Given the description of an element on the screen output the (x, y) to click on. 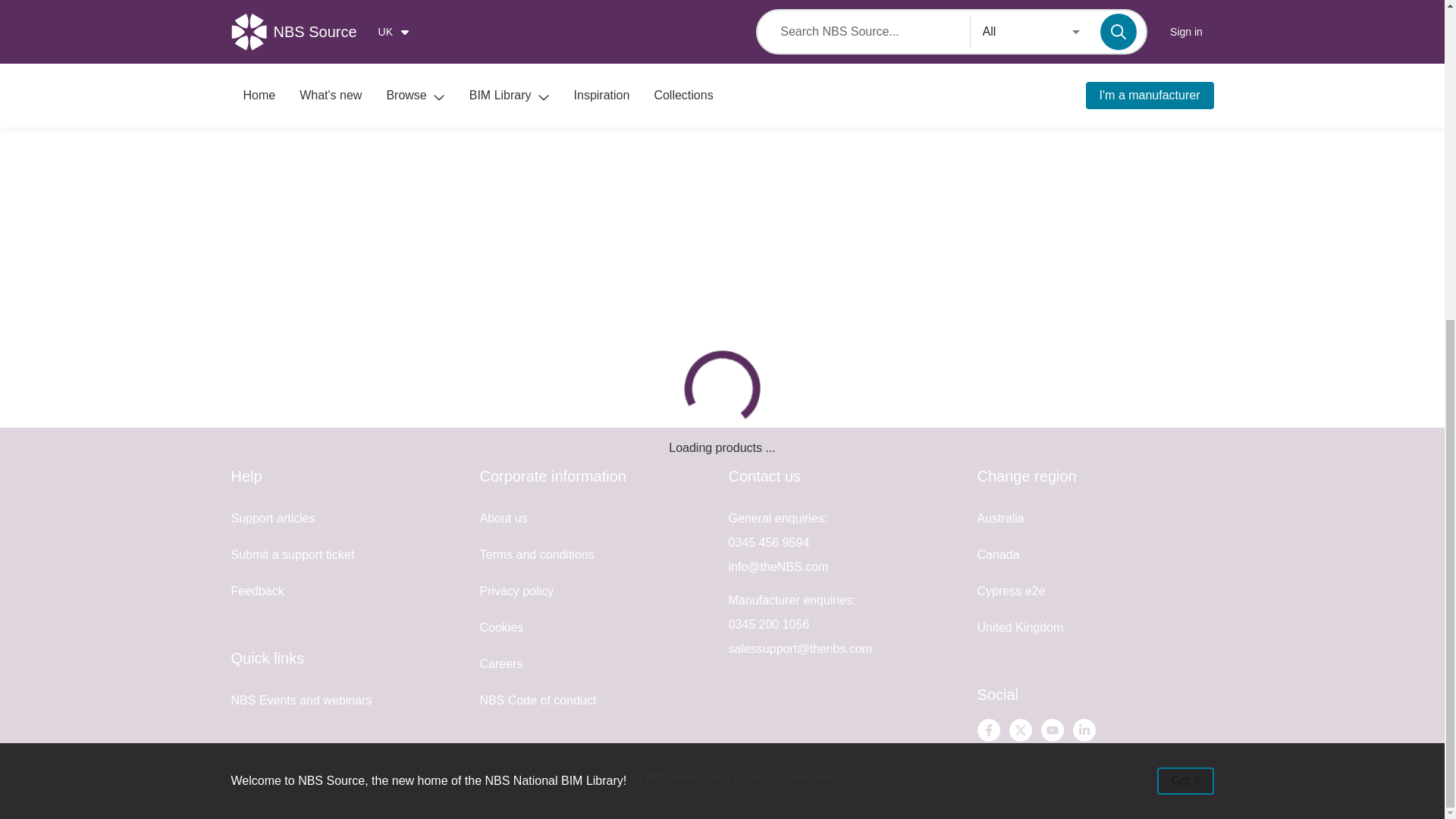
About us (503, 517)
NBS Events and webinars (300, 699)
Submit a support ticket (291, 554)
Support articles (272, 517)
Feedback (256, 590)
